Given the description of an element on the screen output the (x, y) to click on. 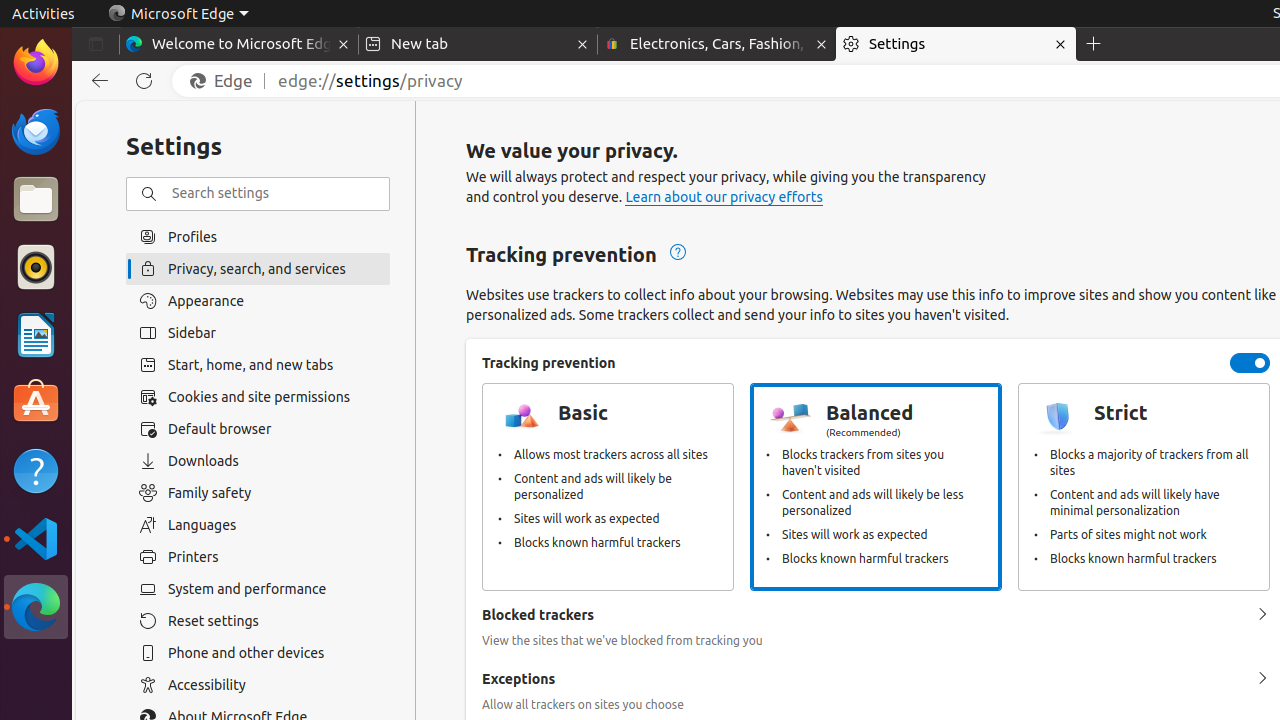
Visual Studio Code Element type: push-button (36, 538)
